Given the description of an element on the screen output the (x, y) to click on. 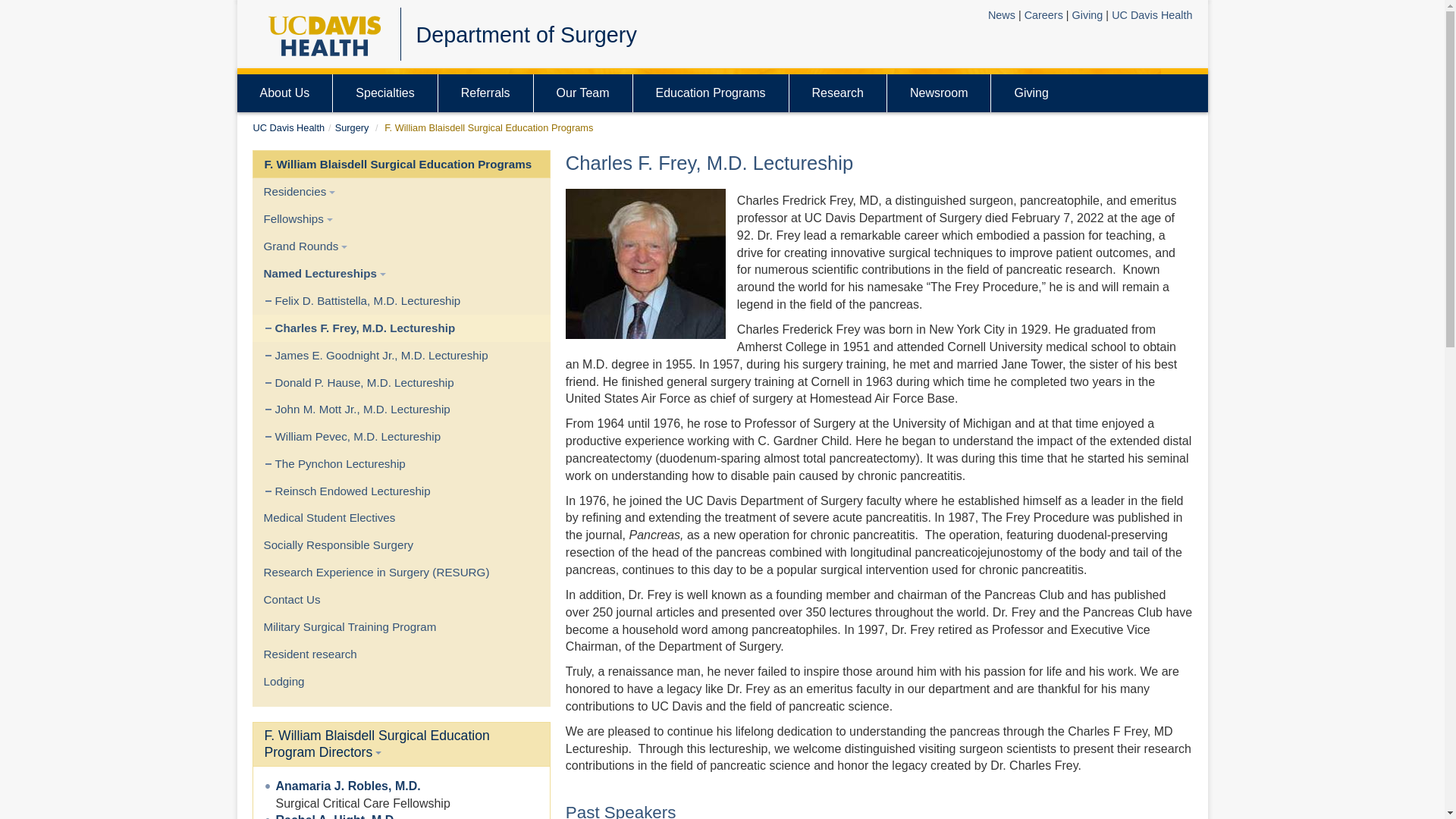
UC Davis Health (1152, 15)
Department of Surgery (525, 34)
Careers (1043, 15)
Specialties (384, 93)
About Us (283, 93)
Surgery (351, 127)
Referrals (485, 93)
UC Davis Health (288, 127)
